Given the description of an element on the screen output the (x, y) to click on. 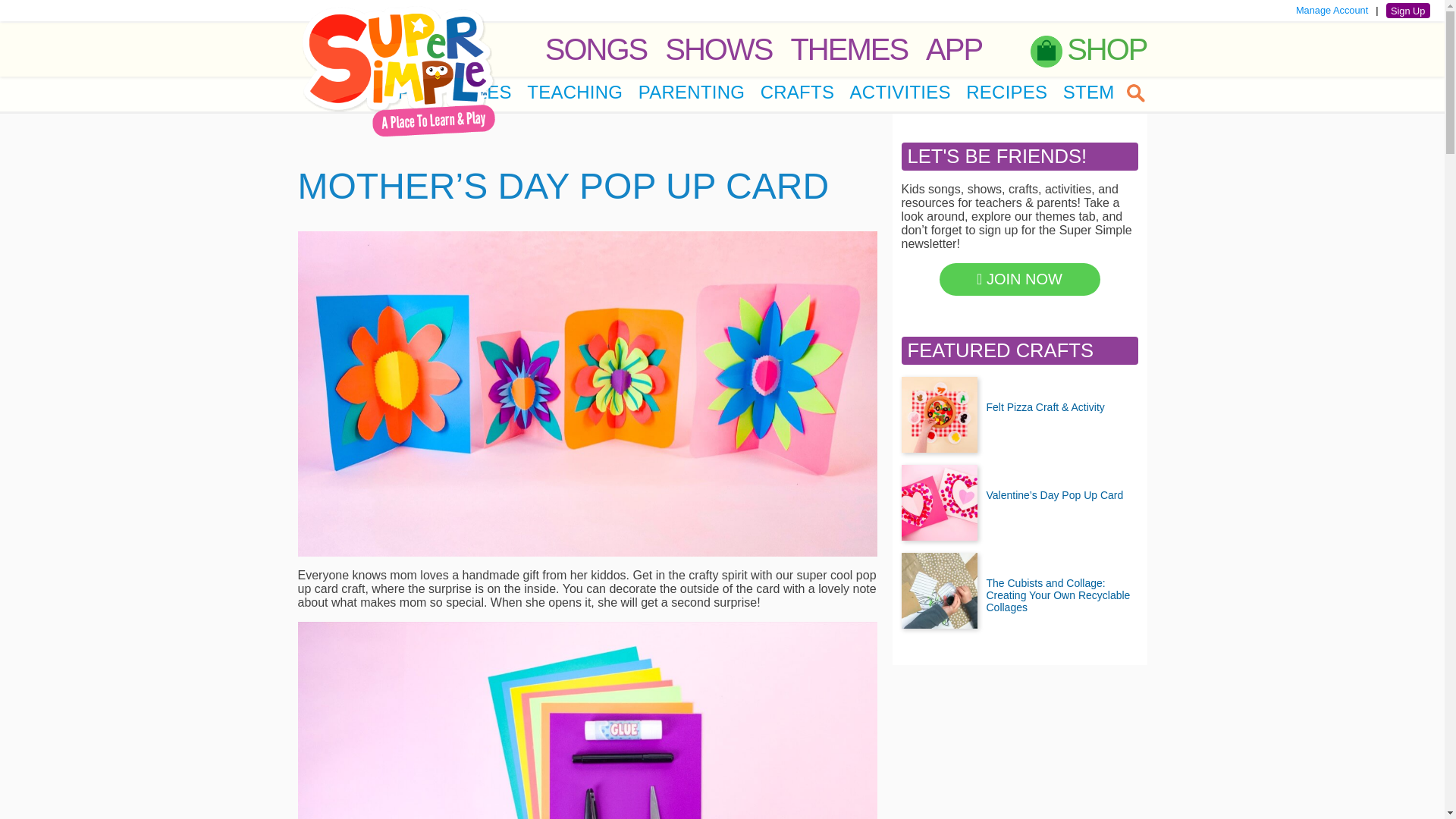
SONGS (595, 49)
THEMES (848, 49)
SHOWS (718, 49)
